Given the description of an element on the screen output the (x, y) to click on. 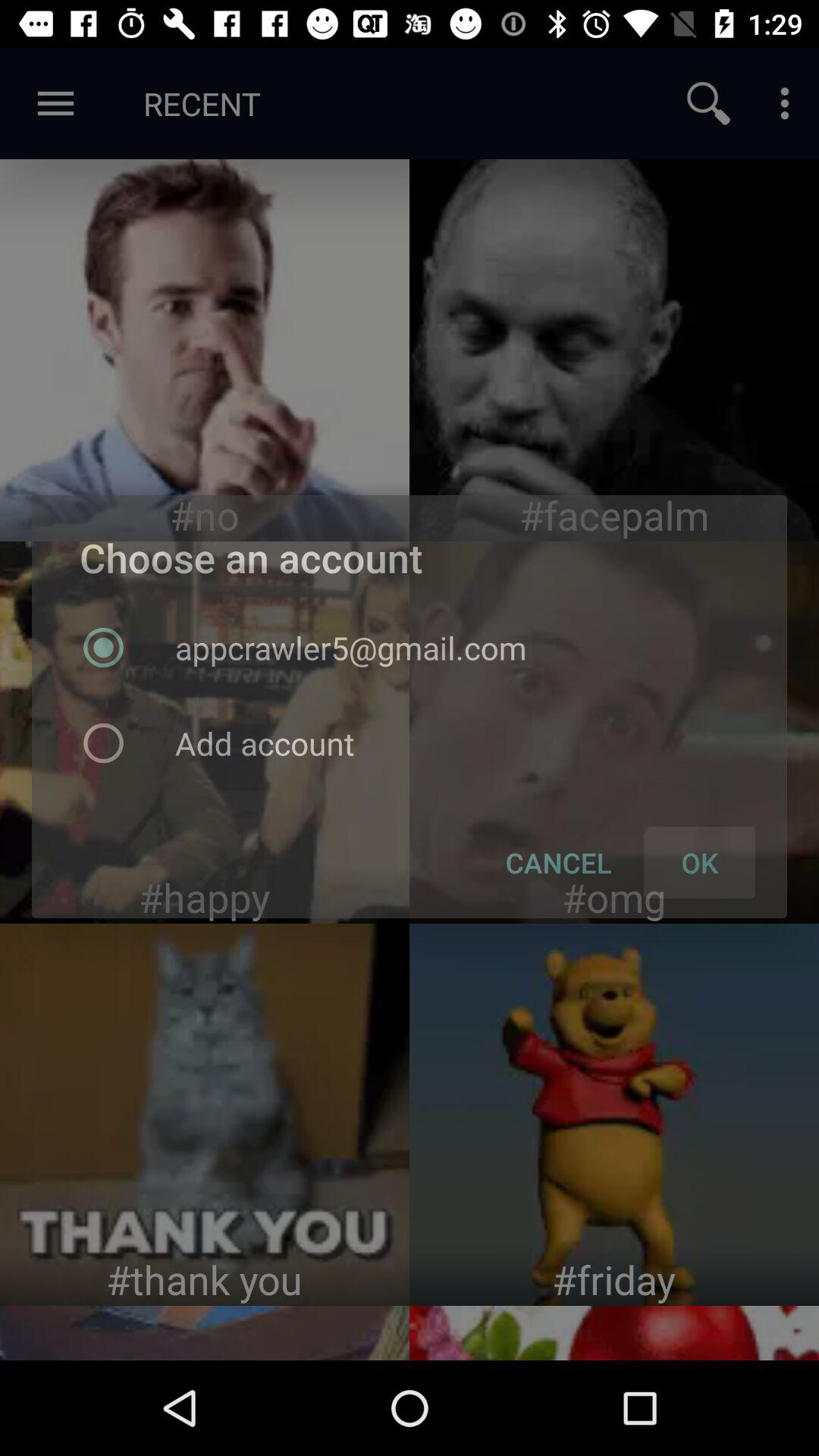
select image (614, 350)
